Given the description of an element on the screen output the (x, y) to click on. 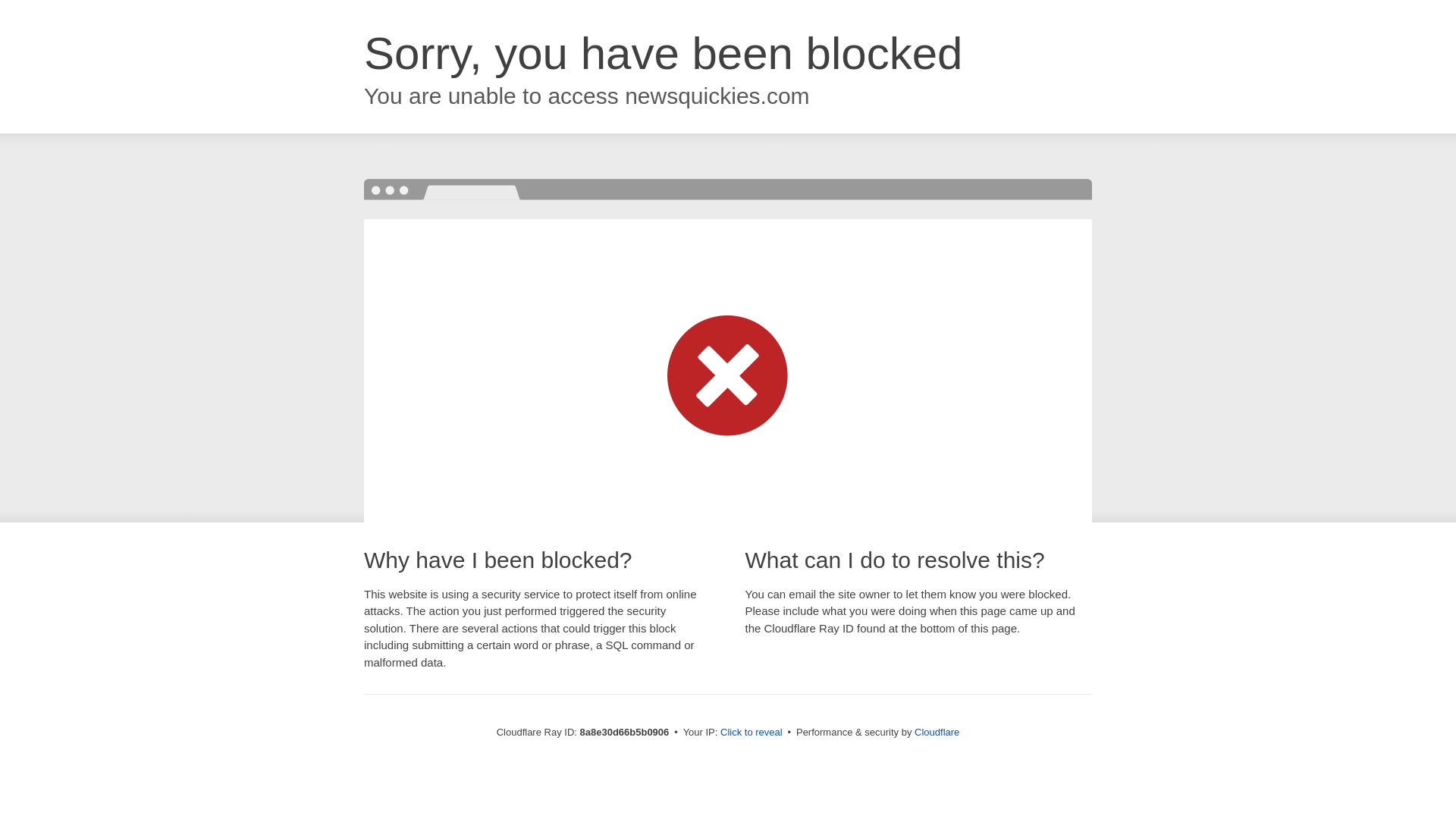
Click to reveal (751, 732)
Cloudflare (936, 731)
